Given the description of an element on the screen output the (x, y) to click on. 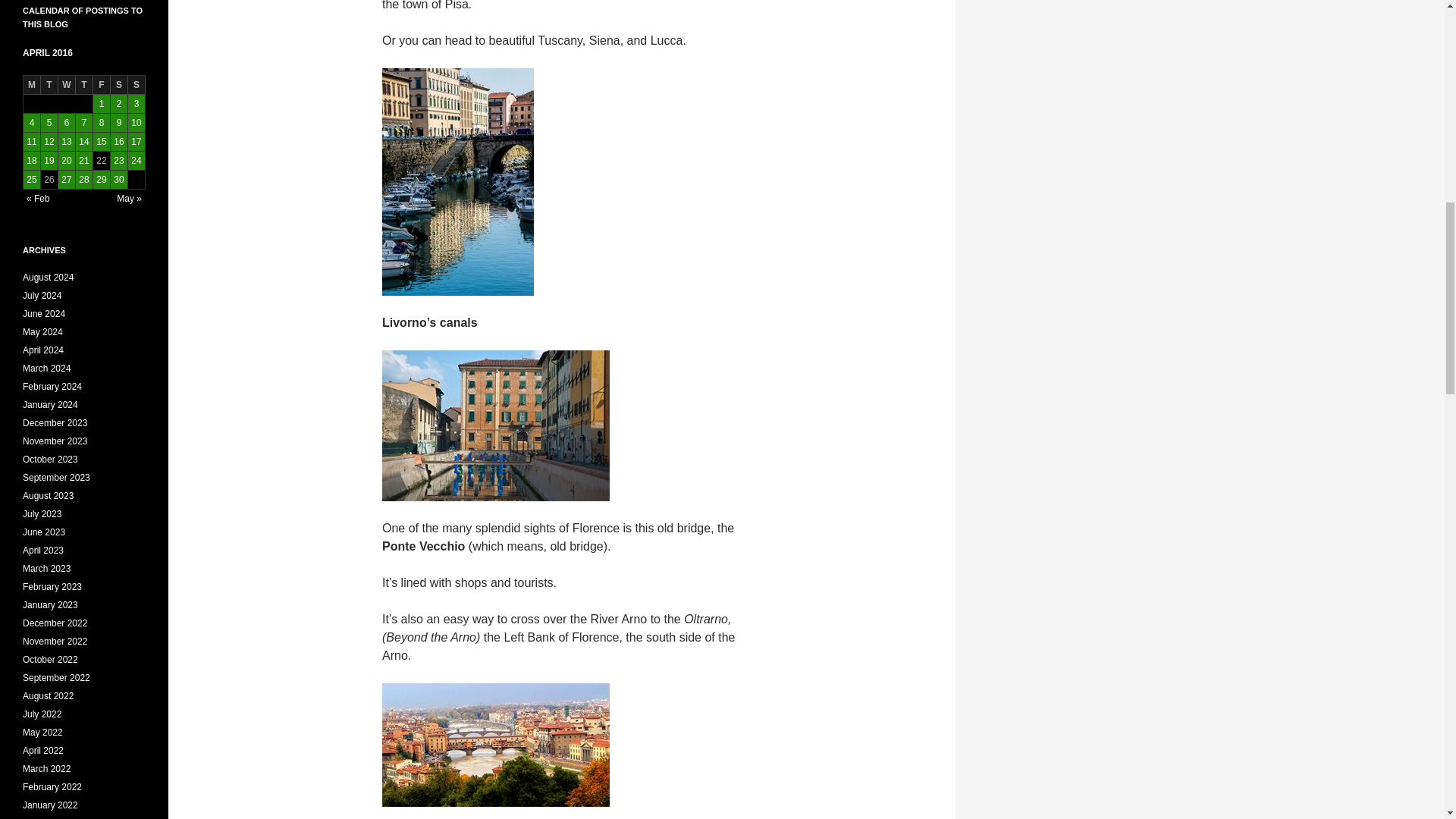
1 (101, 103)
Saturday (119, 85)
2 (119, 103)
Sunday (136, 85)
Tuesday (49, 85)
Wednesday (66, 85)
Monday (31, 85)
Friday (101, 85)
Thursday (84, 85)
